Given the description of an element on the screen output the (x, y) to click on. 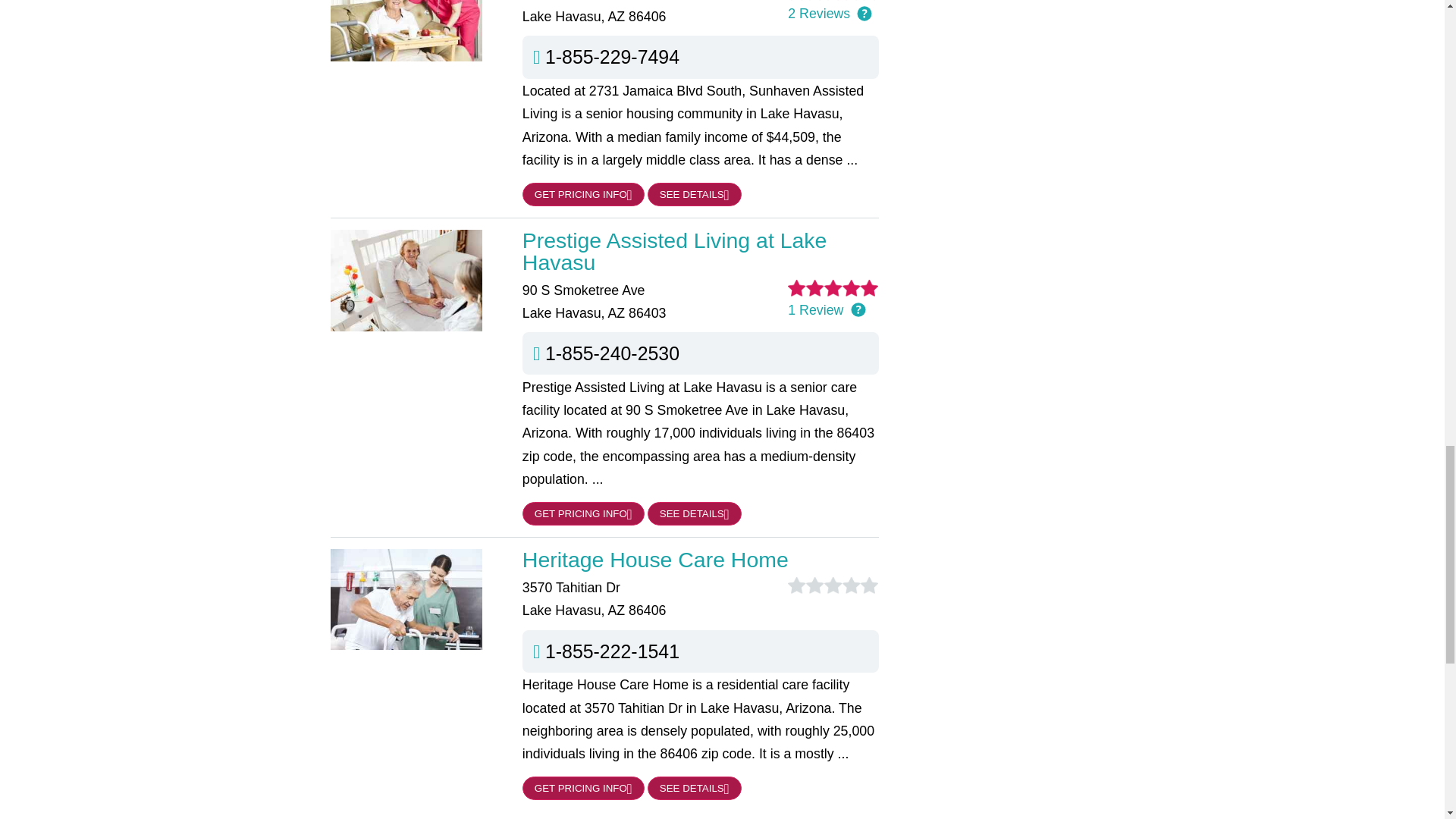
Prestige Assisted Living at Lake Havasu Lake Havasu, AZ (700, 251)
Heritage House Care Home Lake Havasu, AZ (700, 559)
